Given the description of an element on the screen output the (x, y) to click on. 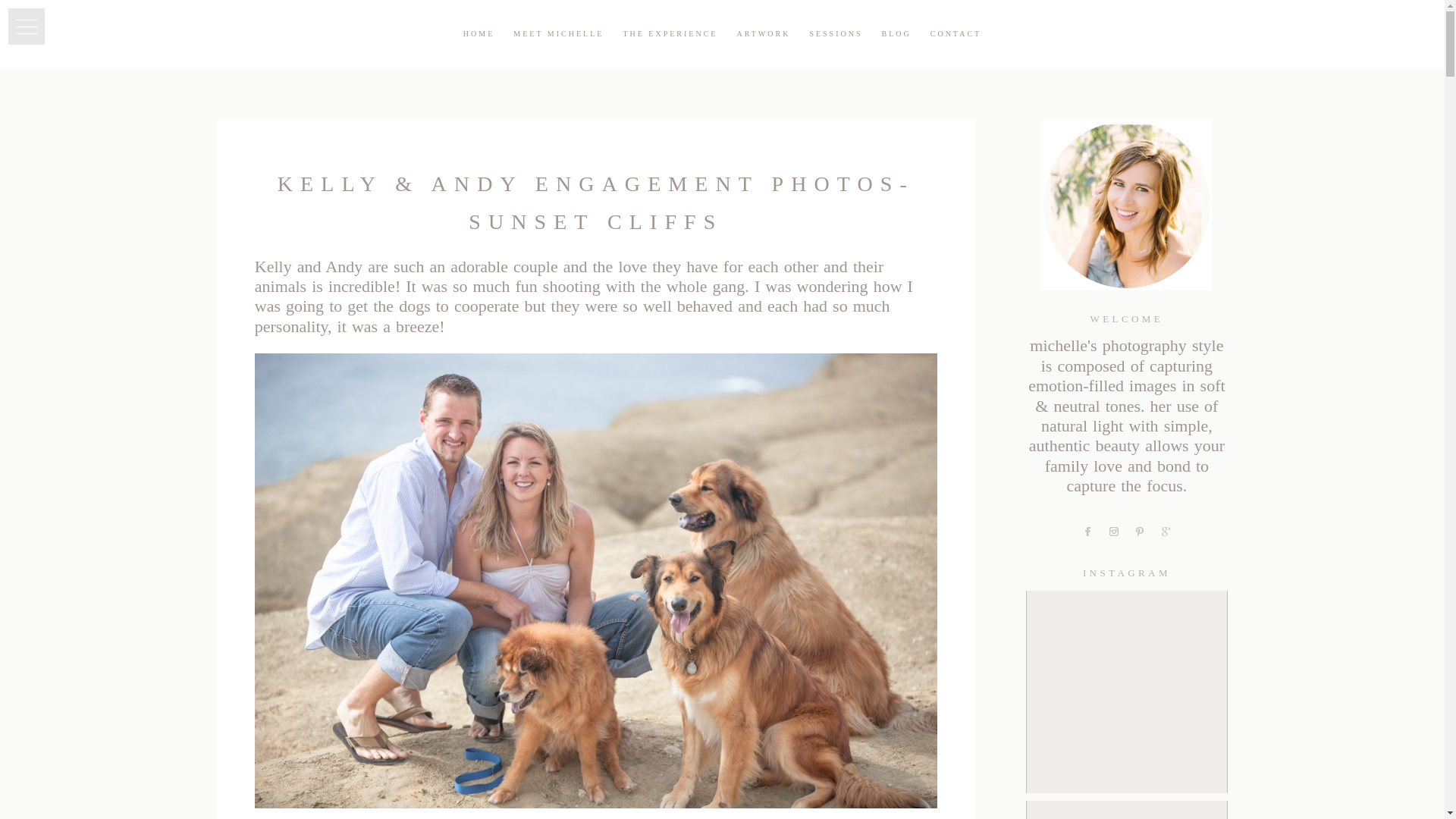
ARTWORK (763, 33)
CONTACT (955, 33)
SESSIONS (835, 33)
HOME (479, 33)
BLOG (896, 33)
THE EXPERIENCE (670, 33)
MEET MICHELLE (558, 33)
